Given the description of an element on the screen output the (x, y) to click on. 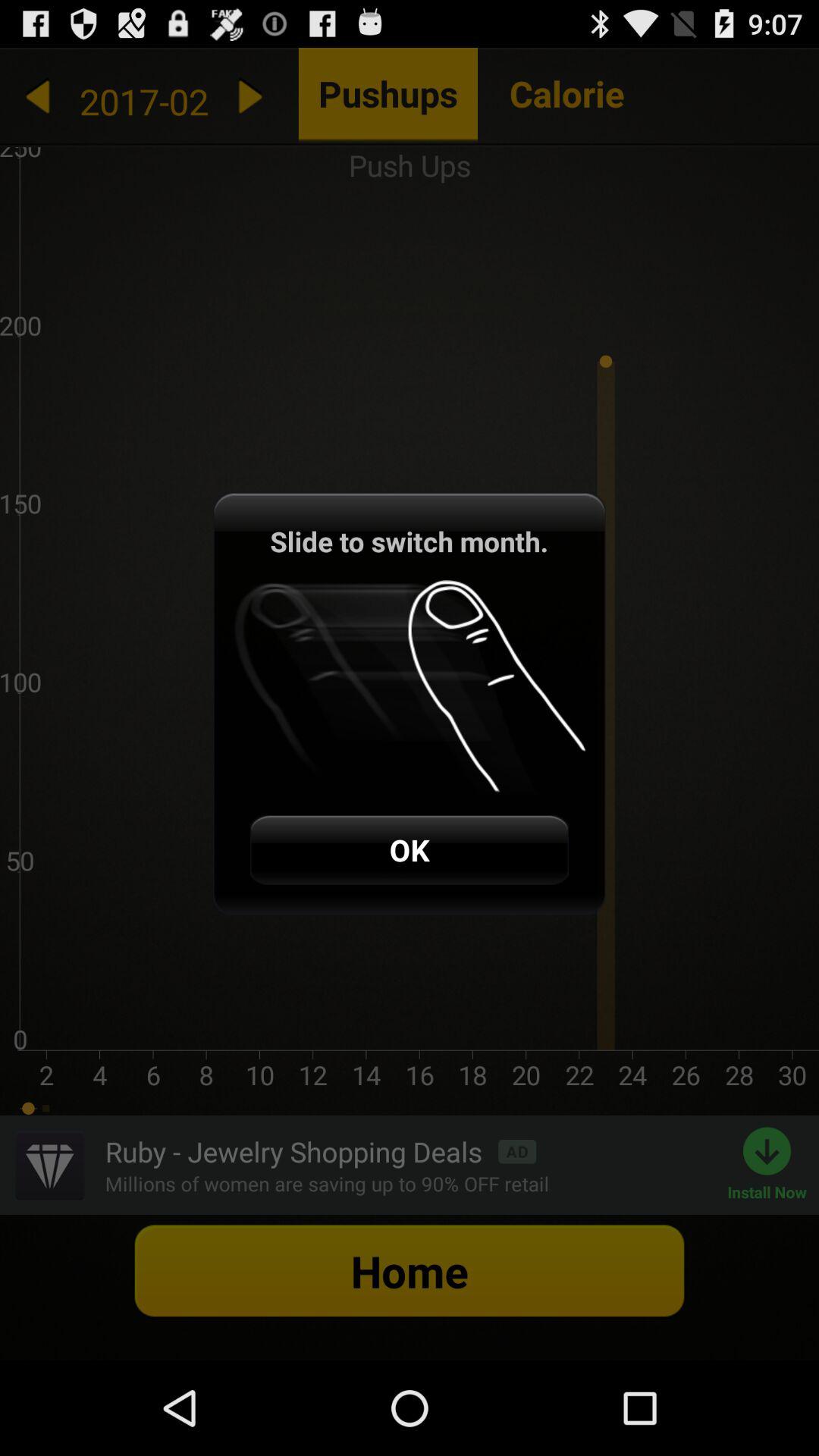
open ok icon (409, 849)
